Given the description of an element on the screen output the (x, y) to click on. 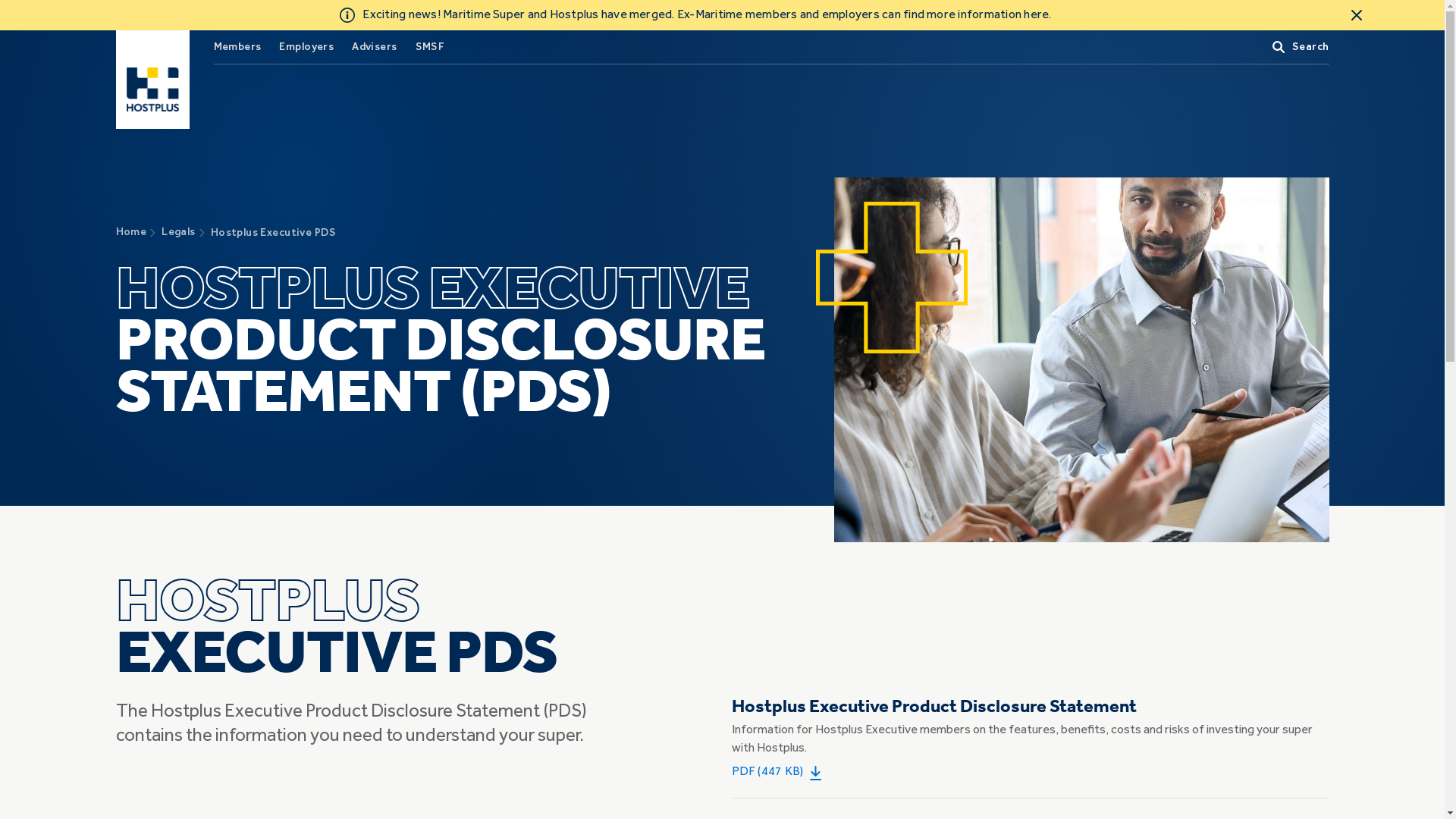
Employers Element type: text (306, 46)
SMSF Element type: text (430, 46)
Legals Element type: text (178, 231)
Advisers Element type: text (373, 46)
Home Element type: text (130, 231)
canva-business-team-executive-board-meeting Element type: hover (1081, 359)
Members Element type: text (237, 46)
